Given the description of an element on the screen output the (x, y) to click on. 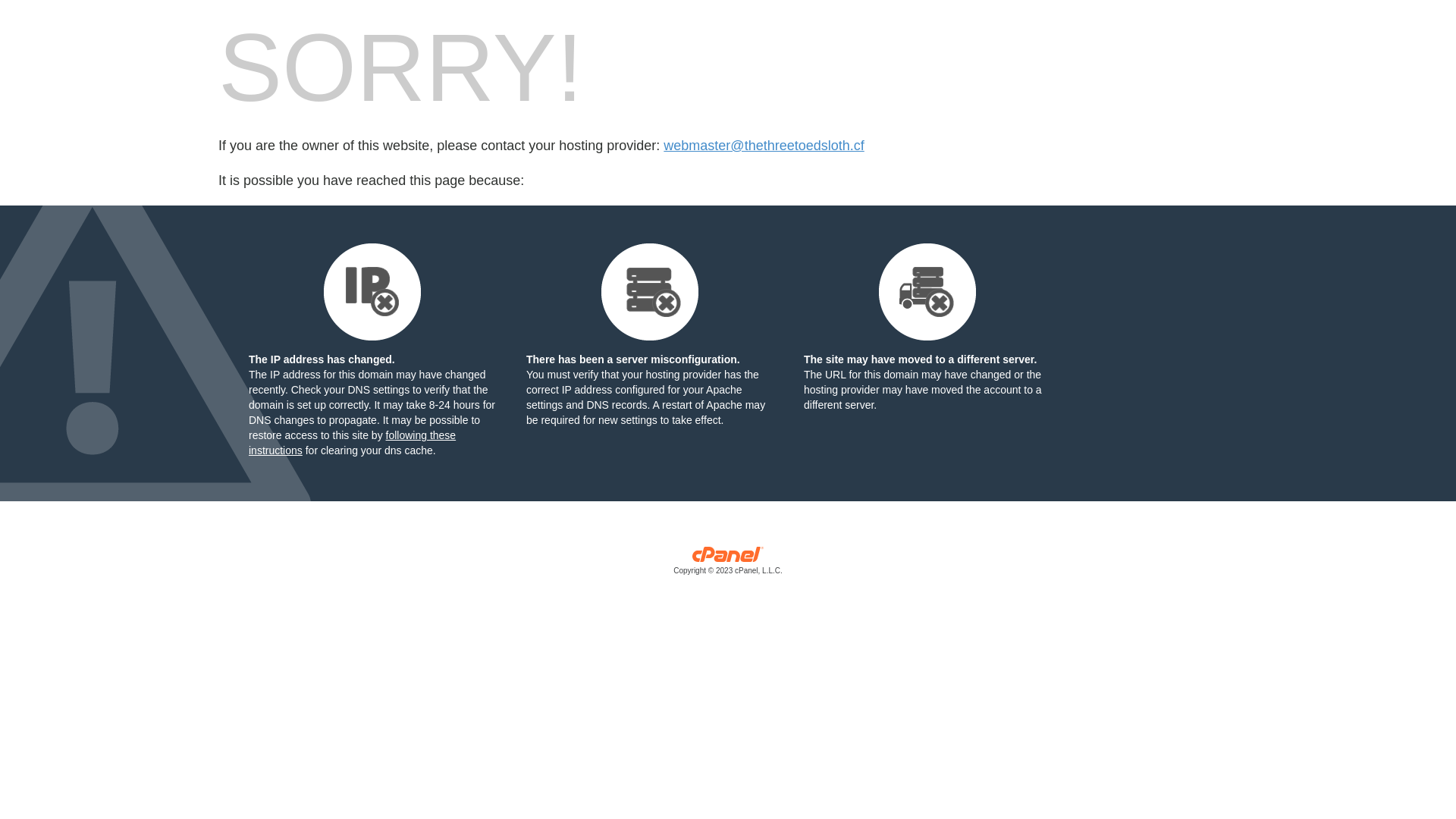
webmaster@thethreetoedsloth.cf Element type: text (763, 145)
following these instructions Element type: text (351, 442)
